Given the description of an element on the screen output the (x, y) to click on. 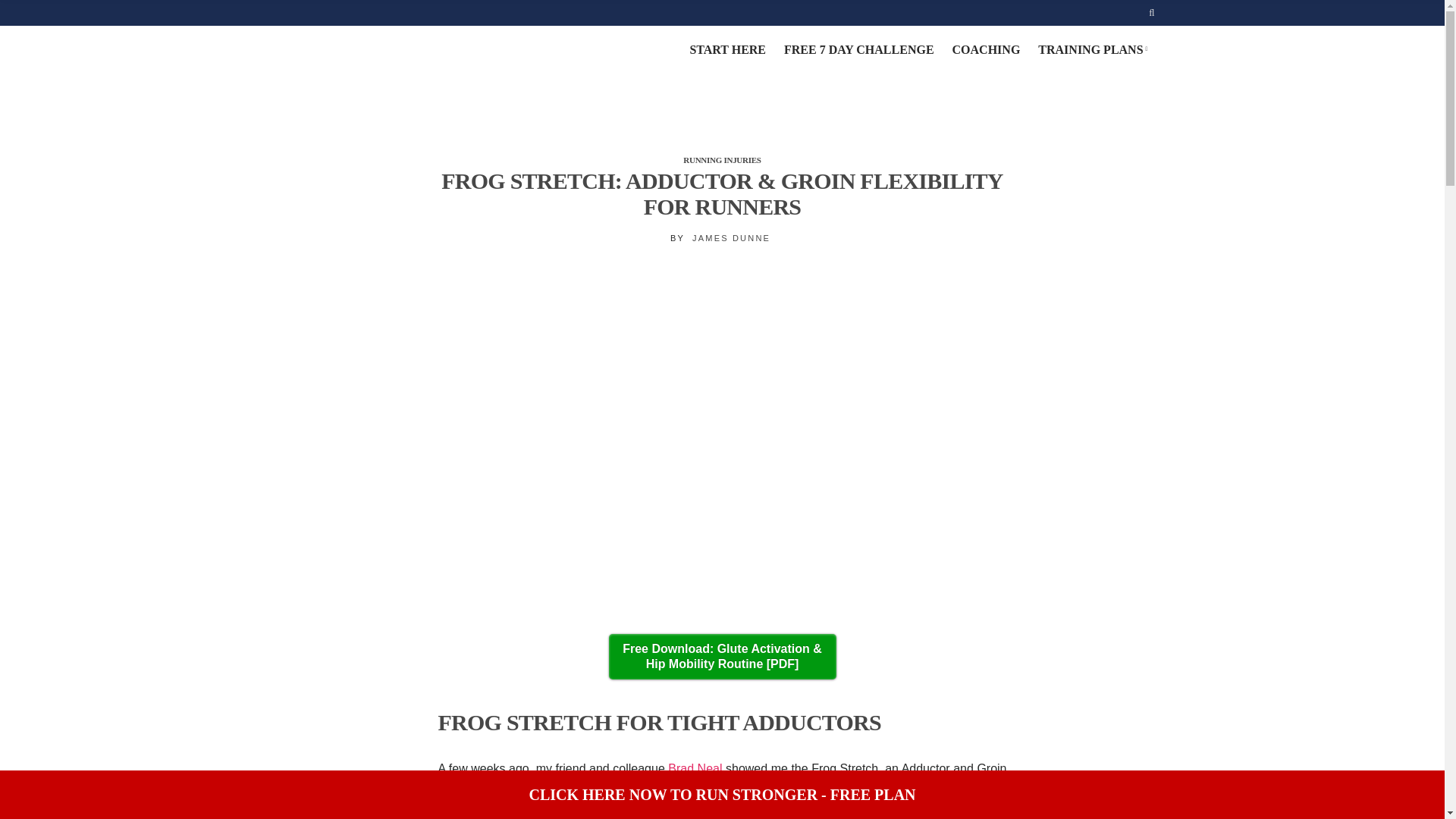
FREE 7 DAY CHALLENGE (859, 50)
COACHING (986, 50)
Training Plans (1091, 50)
Coaching (986, 50)
FREE 7 Day Challenge (859, 50)
Start Here (726, 50)
RUNNING INJURIES (721, 159)
TRAINING PLANS (1091, 50)
JAMES DUNNE (731, 237)
START HERE (726, 50)
Brad Neal (695, 768)
